Given the description of an element on the screen output the (x, y) to click on. 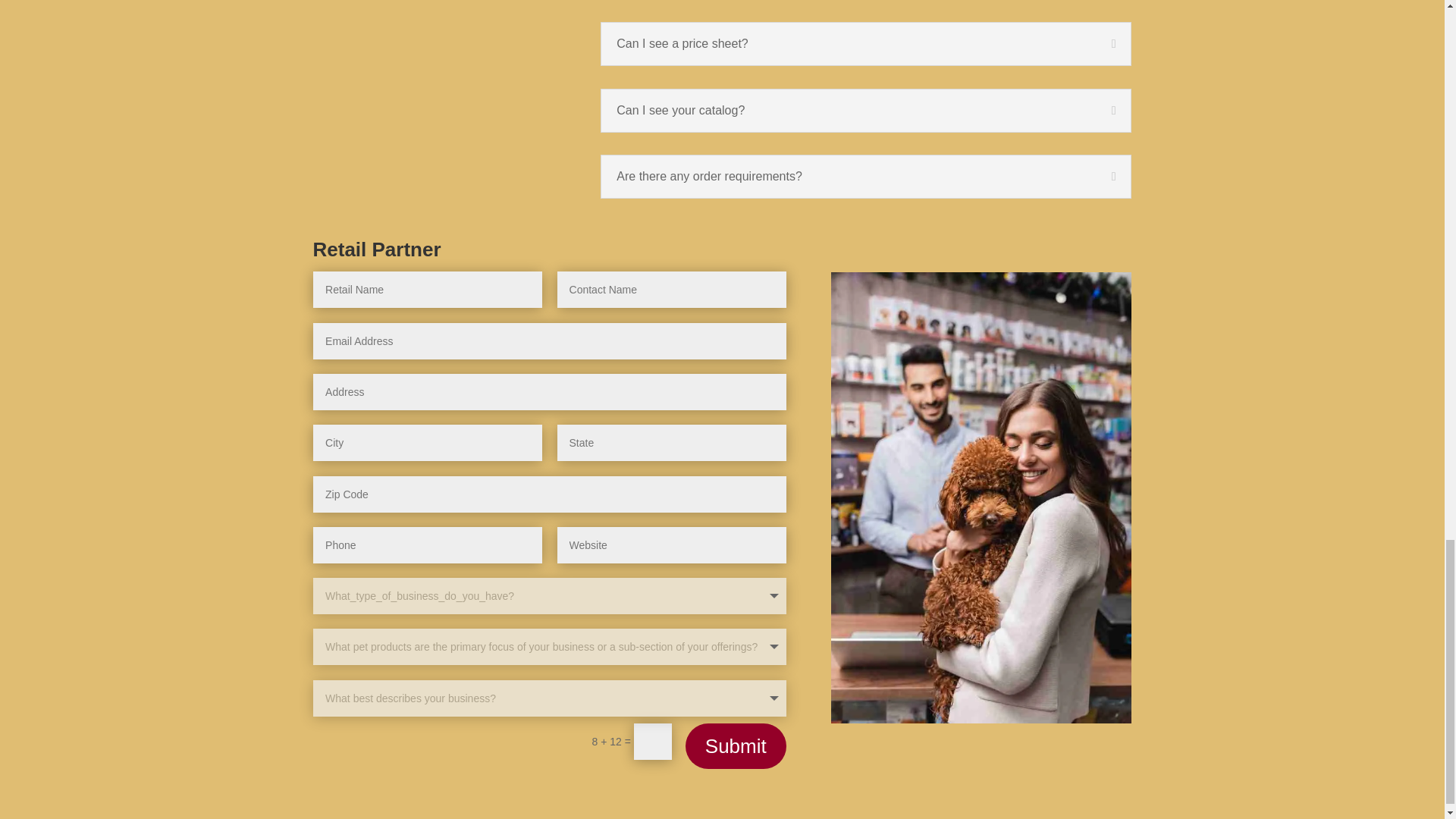
Submit (735, 746)
